Given the description of an element on the screen output the (x, y) to click on. 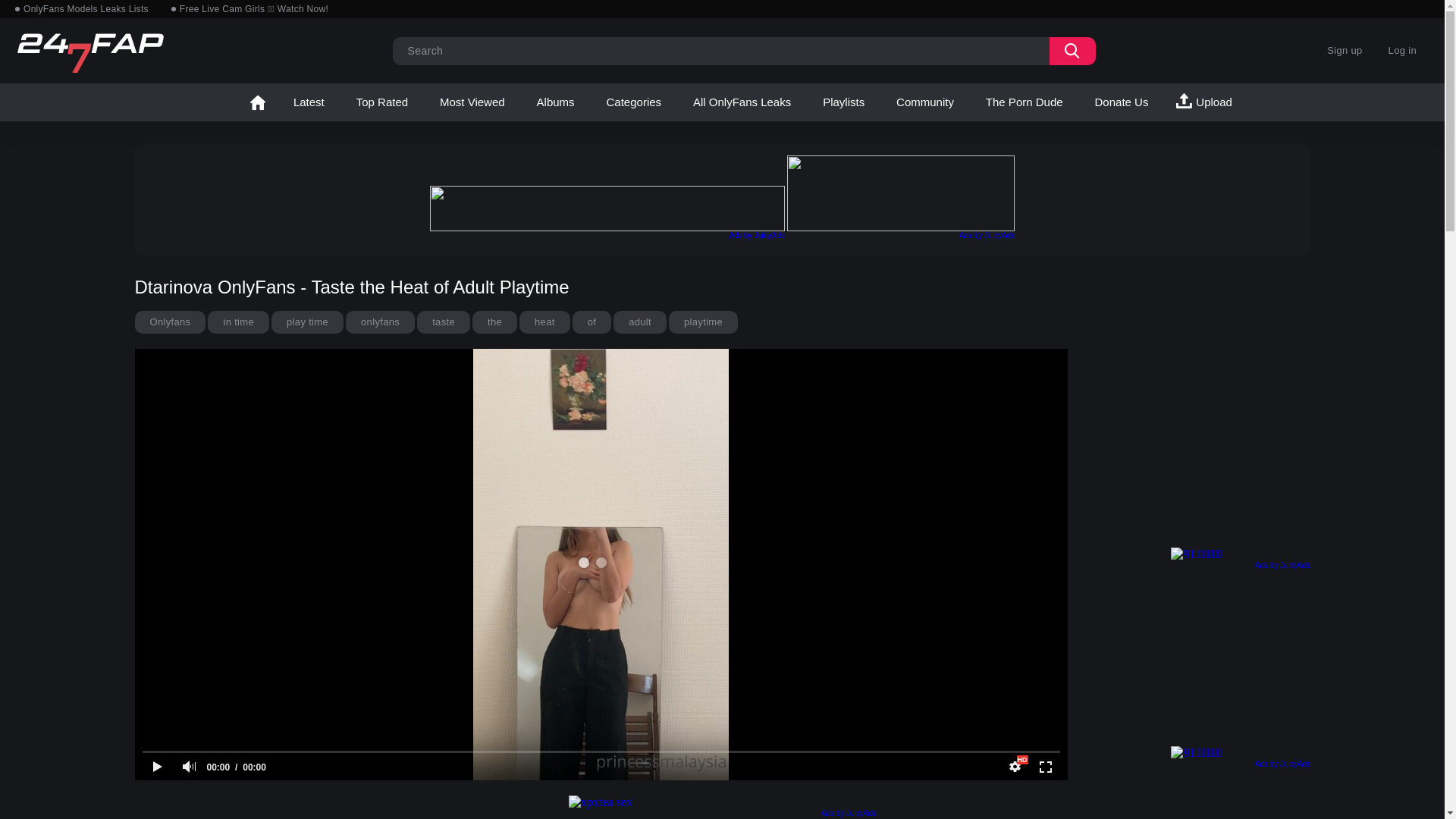
Latest Element type: text (308, 102)
heat Element type: text (544, 321)
the Element type: text (494, 321)
OnlyFans Models Leaks Lists Element type: text (81, 8)
Log in Element type: text (1402, 50)
of Element type: text (591, 321)
Upload Element type: text (1205, 102)
Albums Element type: text (555, 102)
Most Viewed Element type: text (472, 102)
Categories Element type: text (634, 102)
playtime Element type: text (702, 321)
Home Element type: text (257, 102)
play time Element type: text (307, 321)
Onlyfans Element type: text (170, 321)
taste Element type: text (443, 321)
onlyfans Element type: text (379, 321)
Community Element type: text (925, 102)
The Porn Dude Element type: text (1024, 102)
adult Element type: text (639, 321)
in time Element type: text (238, 321)
Sign up Element type: text (1344, 50)
All OnlyFans Leaks Element type: text (741, 102)
Top Rated Element type: text (382, 102)
Donate Us Element type: text (1121, 102)
Playlists Element type: text (843, 102)
